Given the description of an element on the screen output the (x, y) to click on. 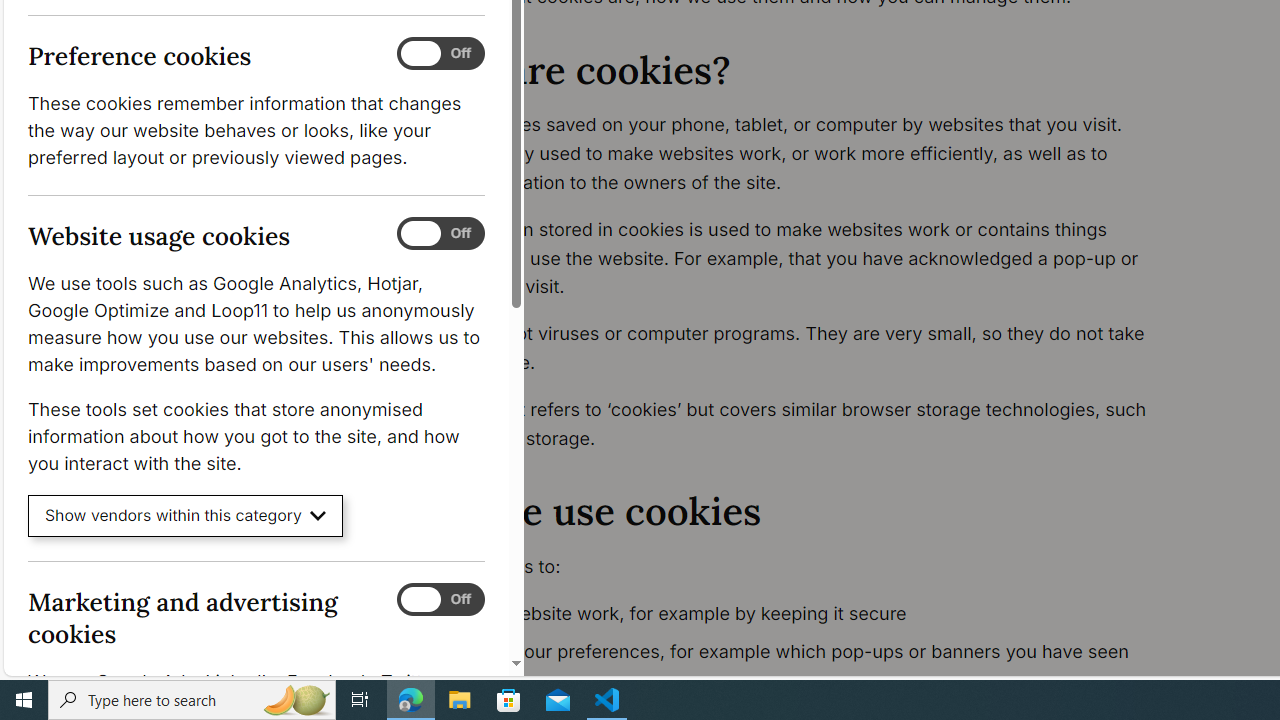
Show vendors within this category (185, 516)
make our website work, for example by keeping it secure (796, 614)
Preference cookies (440, 53)
Marketing and advertising cookies (440, 599)
Website usage cookies (440, 233)
